Given the description of an element on the screen output the (x, y) to click on. 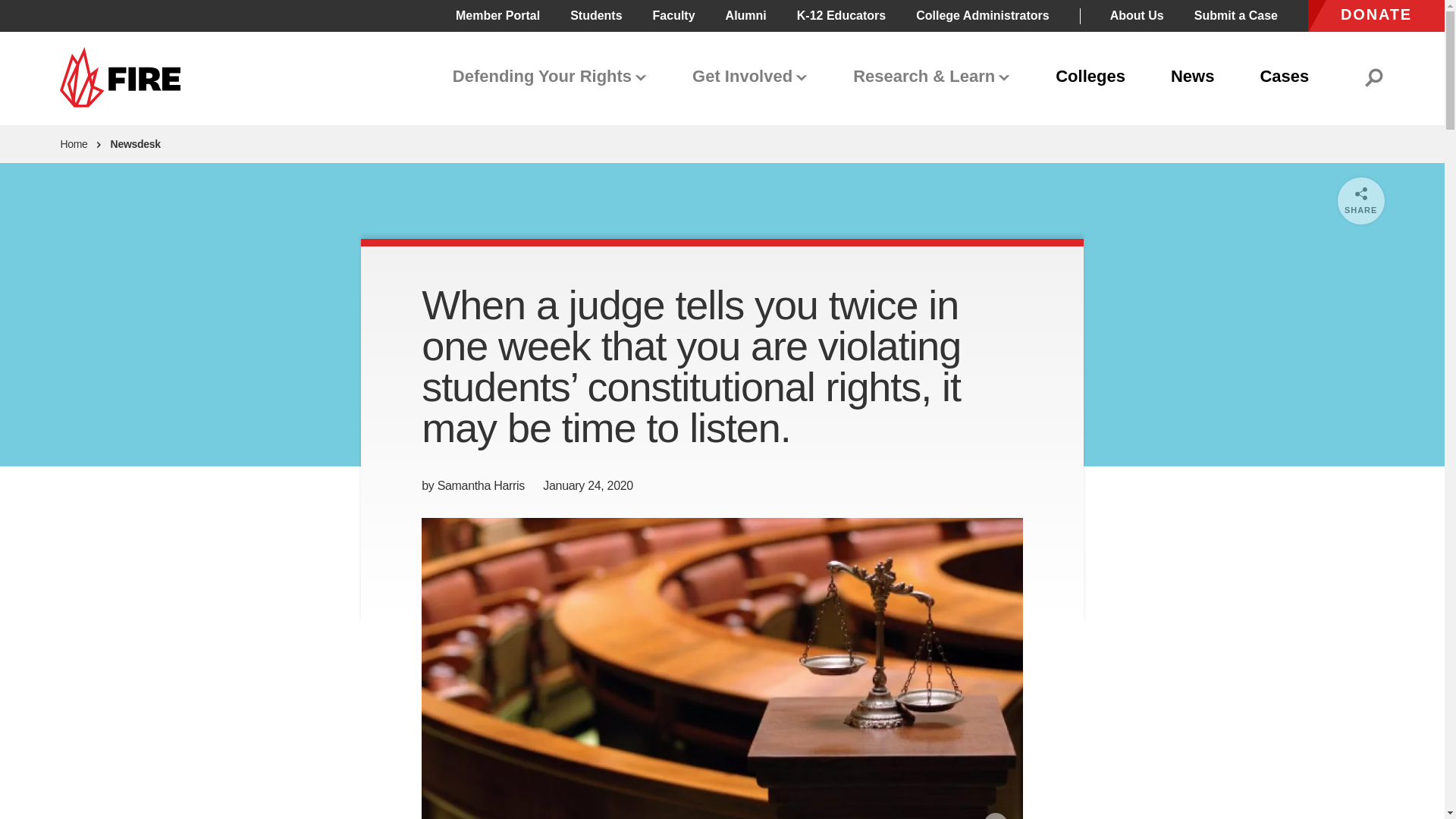
Alumni (746, 15)
College Administrators (981, 15)
K-12 Educators (840, 15)
About Us (1136, 15)
Faculty (673, 15)
Member Portal (497, 15)
Defending Your Rights (550, 77)
Submit a Case (1235, 15)
Students (595, 15)
